Given the description of an element on the screen output the (x, y) to click on. 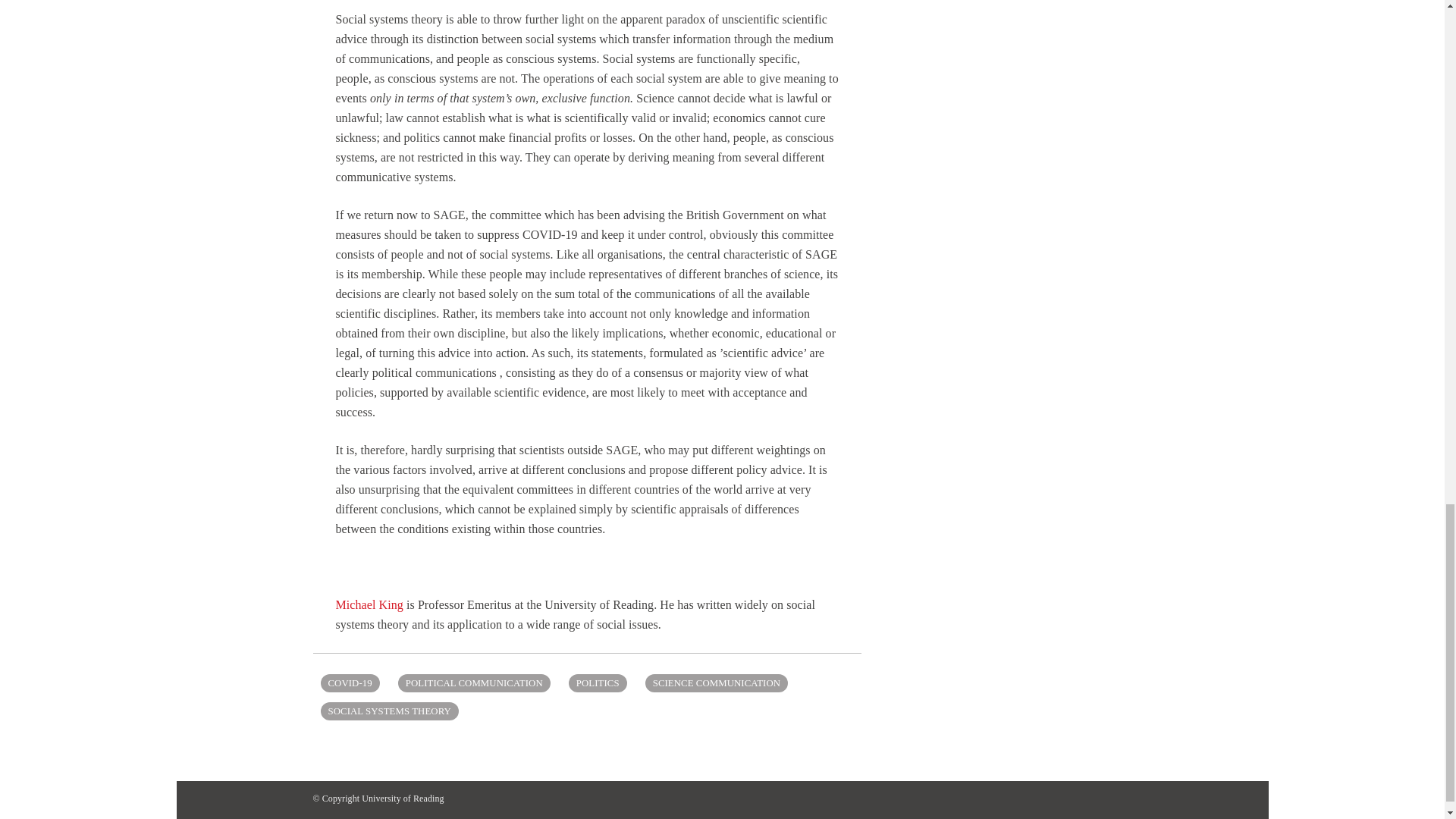
Instagram (1094, 798)
YouTube (1065, 798)
Twitter (1123, 798)
Facebook opens up in new browser window (1036, 798)
POLITICS (598, 683)
Twitter opens up in new browser window (1123, 798)
Michael King (368, 604)
Instagram opens up in new browser window (1094, 798)
COVID-19 (349, 683)
POLITICAL COMMUNICATION (473, 683)
View all posts tagged science communication (716, 683)
View all posts tagged Politics (598, 683)
View all posts tagged political communication (473, 683)
View all posts tagged social systems theory (389, 710)
YouTube opens up in new browser window (1065, 798)
